Given the description of an element on the screen output the (x, y) to click on. 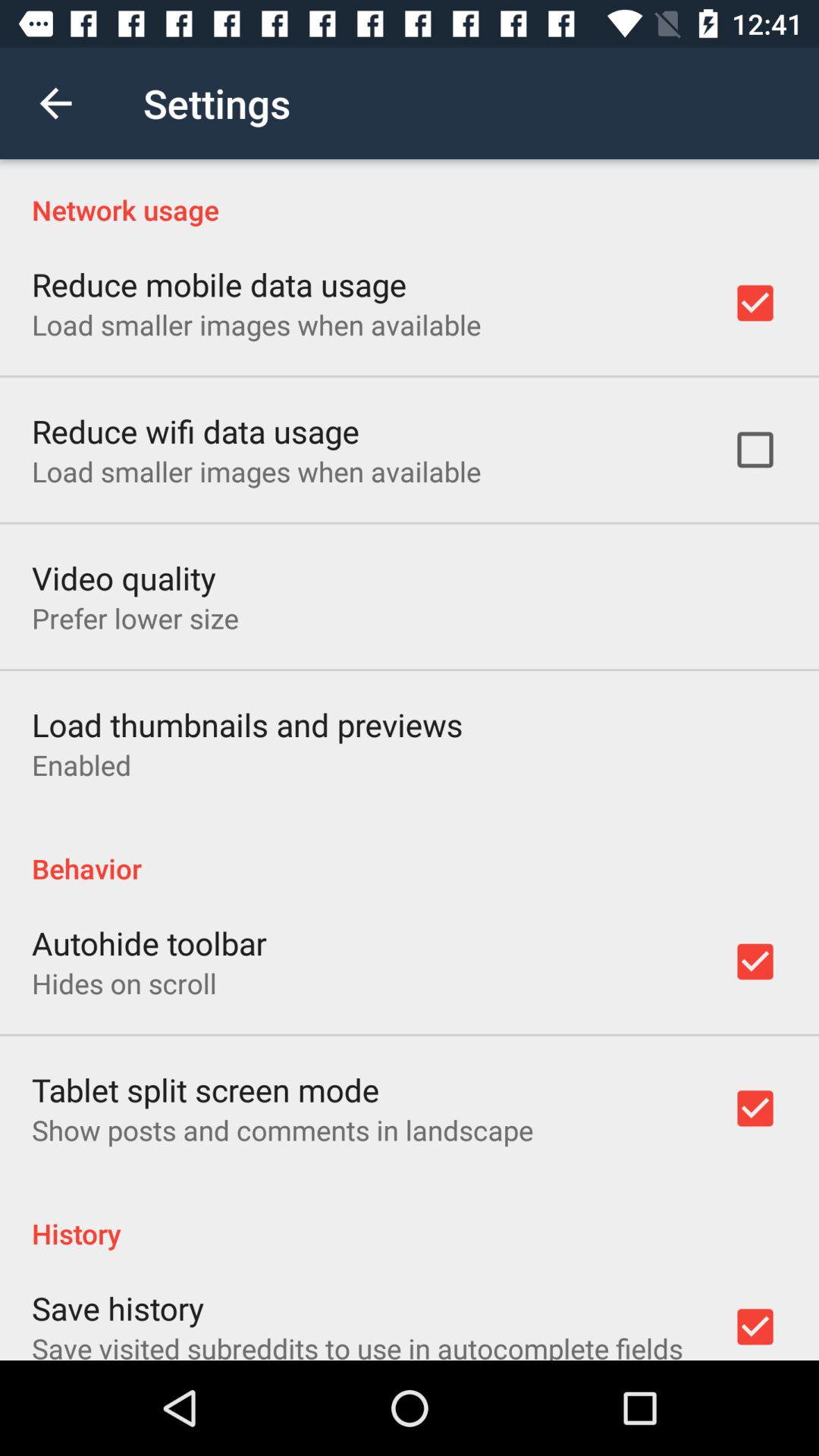
tap the item above the enabled icon (246, 724)
